Given the description of an element on the screen output the (x, y) to click on. 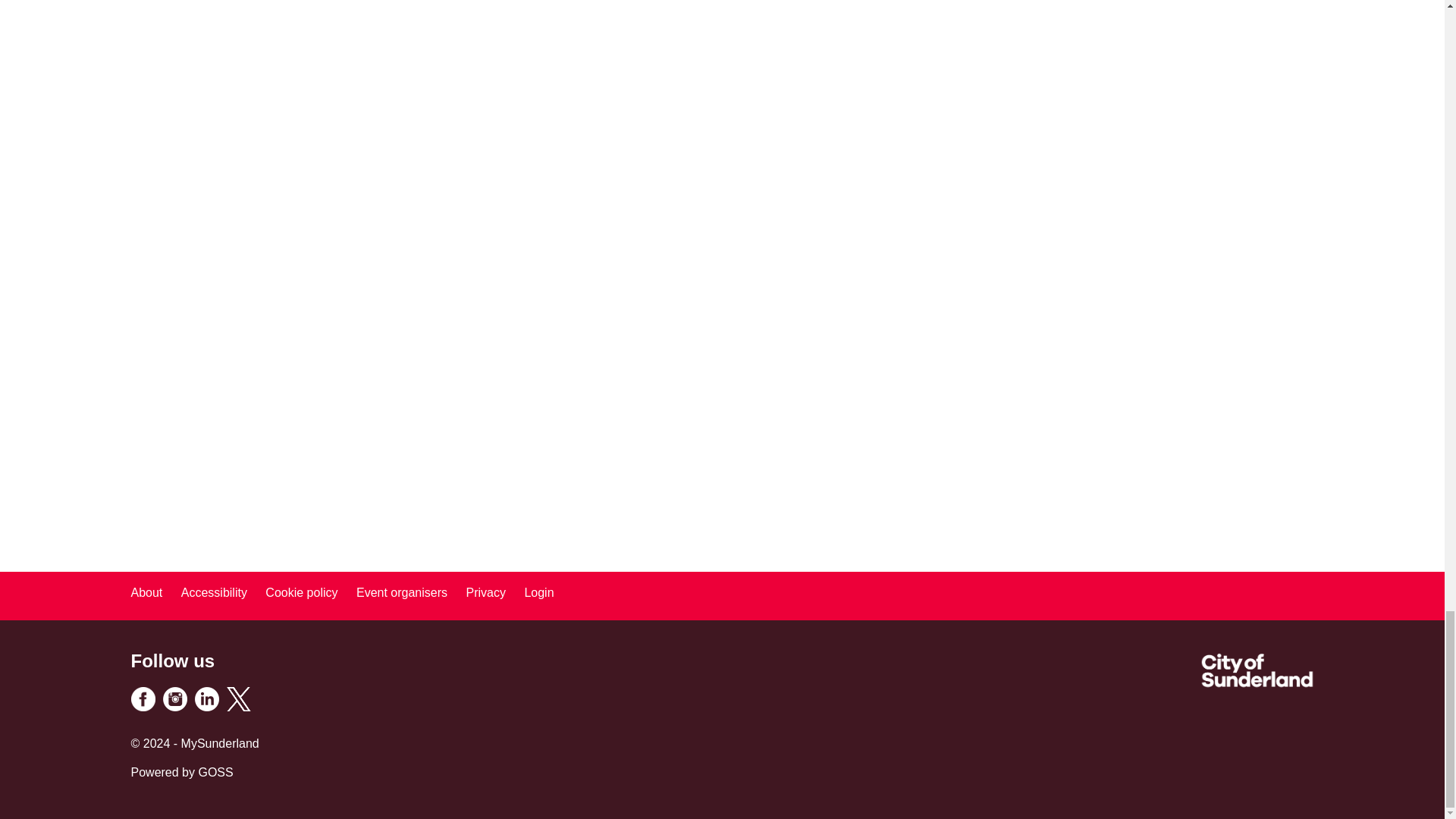
Linkedin invest in Sunderland (205, 707)
Twitter Invest Sunderland (237, 707)
Instagram Visit Sunderland (173, 707)
Visit Sunderland Facebook (142, 707)
